Given the description of an element on the screen output the (x, y) to click on. 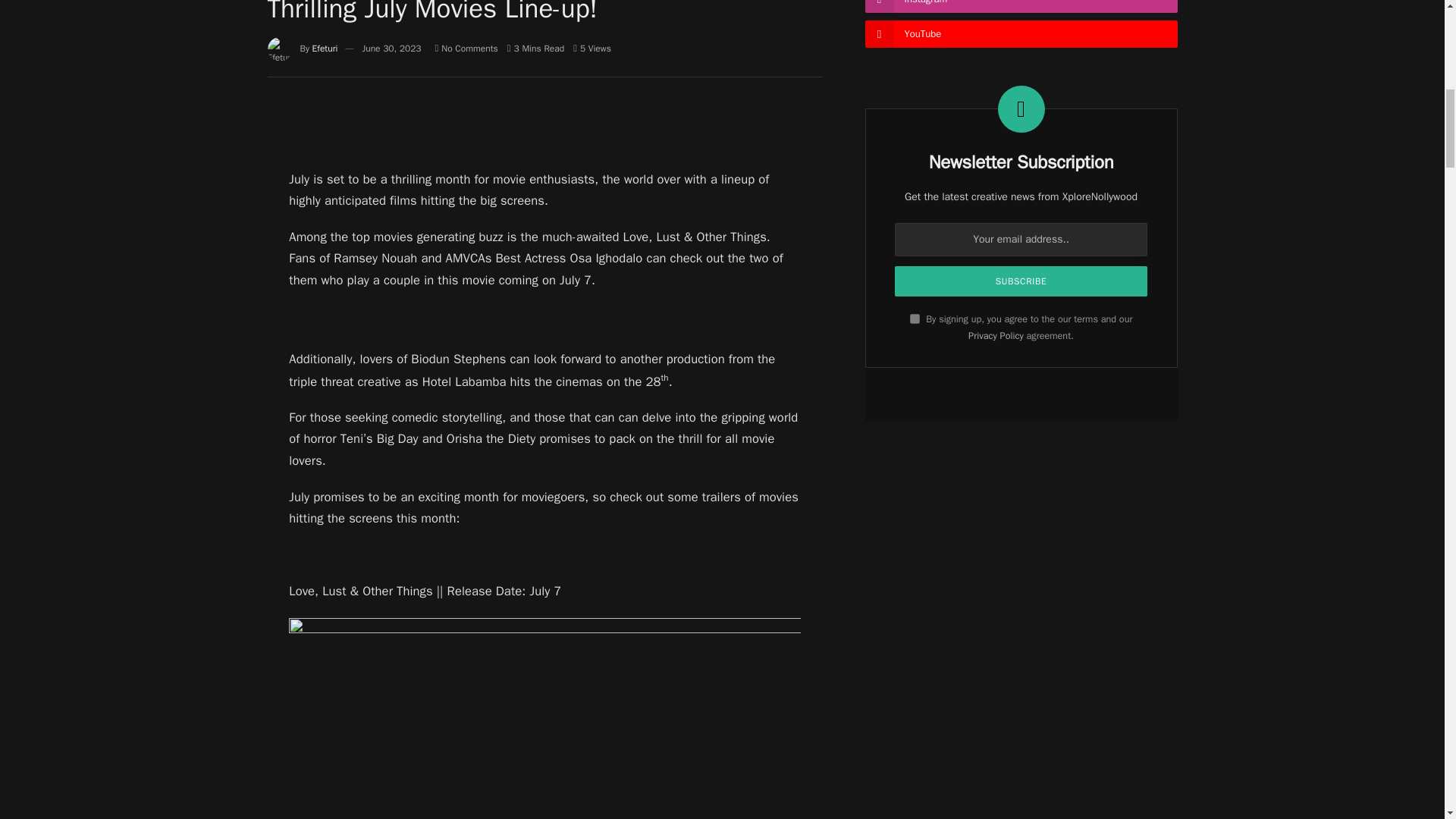
5 Article Views (592, 48)
Subscribe (1021, 281)
Posts by Efeturi (325, 48)
on (915, 318)
